Given the description of an element on the screen output the (x, y) to click on. 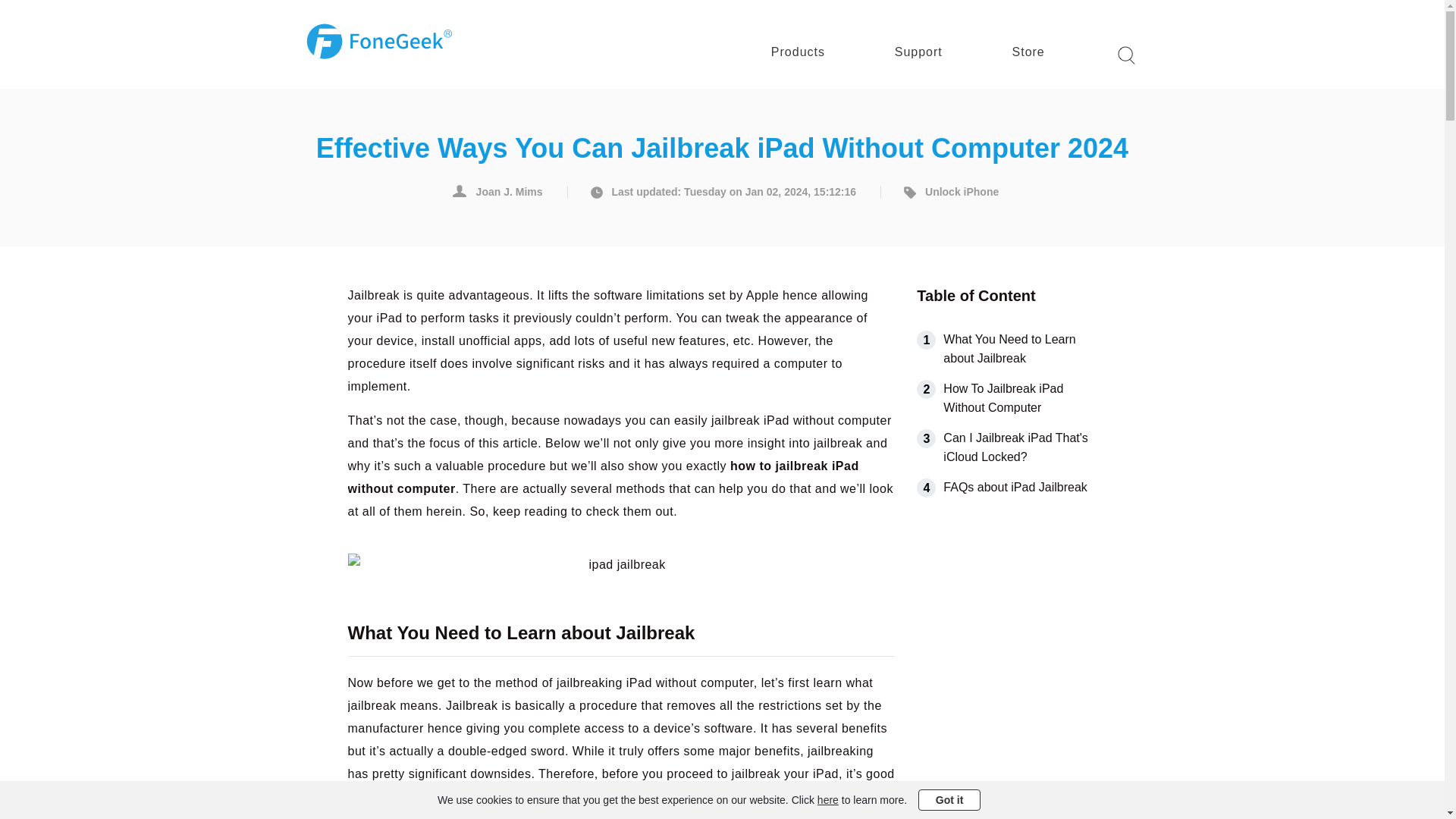
Support (918, 51)
Products (798, 51)
Unlock iPhone (947, 192)
Store (1028, 51)
here (827, 799)
